Given the description of an element on the screen output the (x, y) to click on. 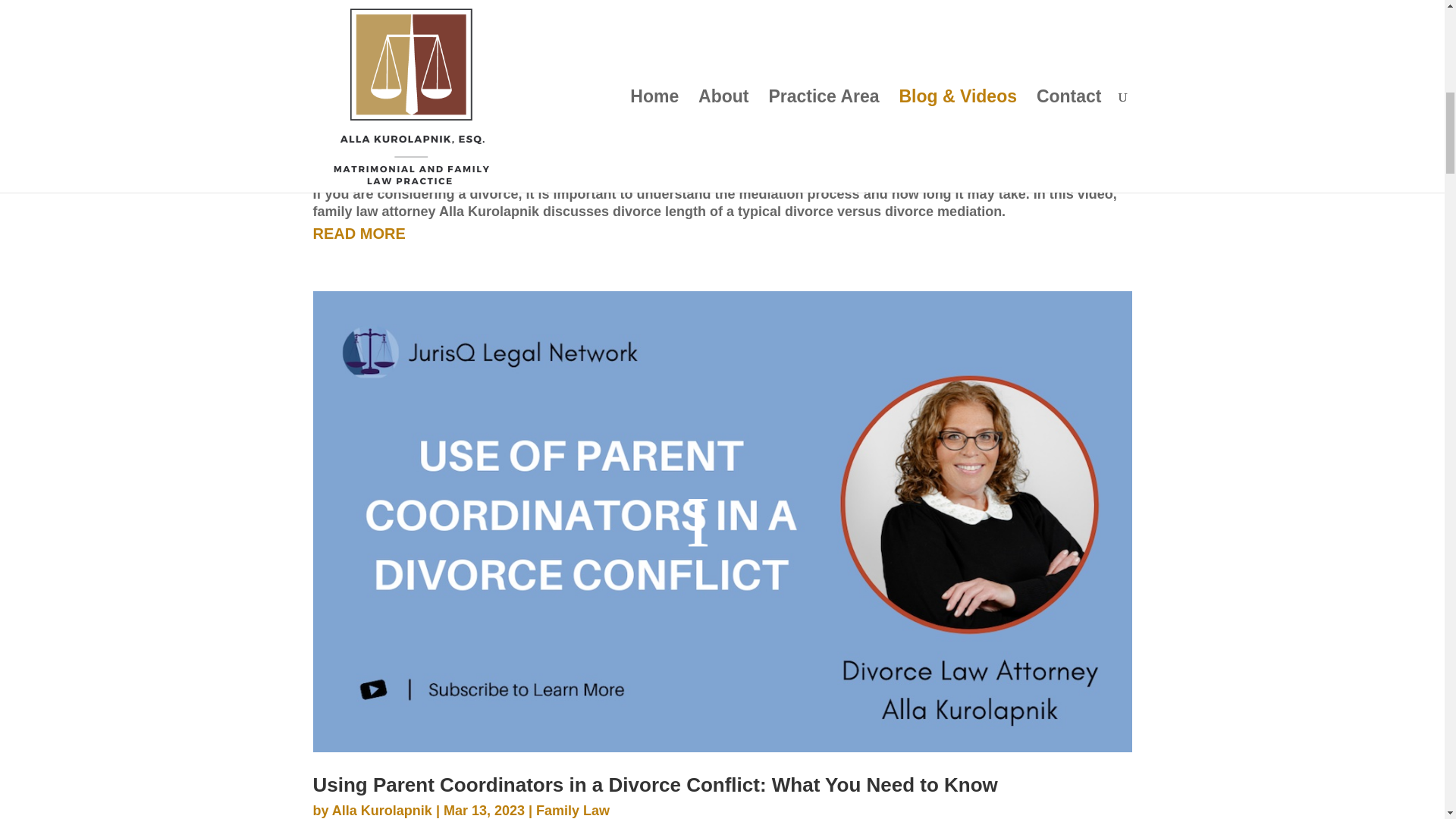
READ MORE (722, 233)
Alla Kurolapnik (381, 810)
Posts by Alla Kurolapnik (381, 810)
Mediation (567, 171)
Family Law (572, 810)
Alla Kurolapnik (381, 171)
Posts by Alla Kurolapnik (381, 171)
